Given the description of an element on the screen output the (x, y) to click on. 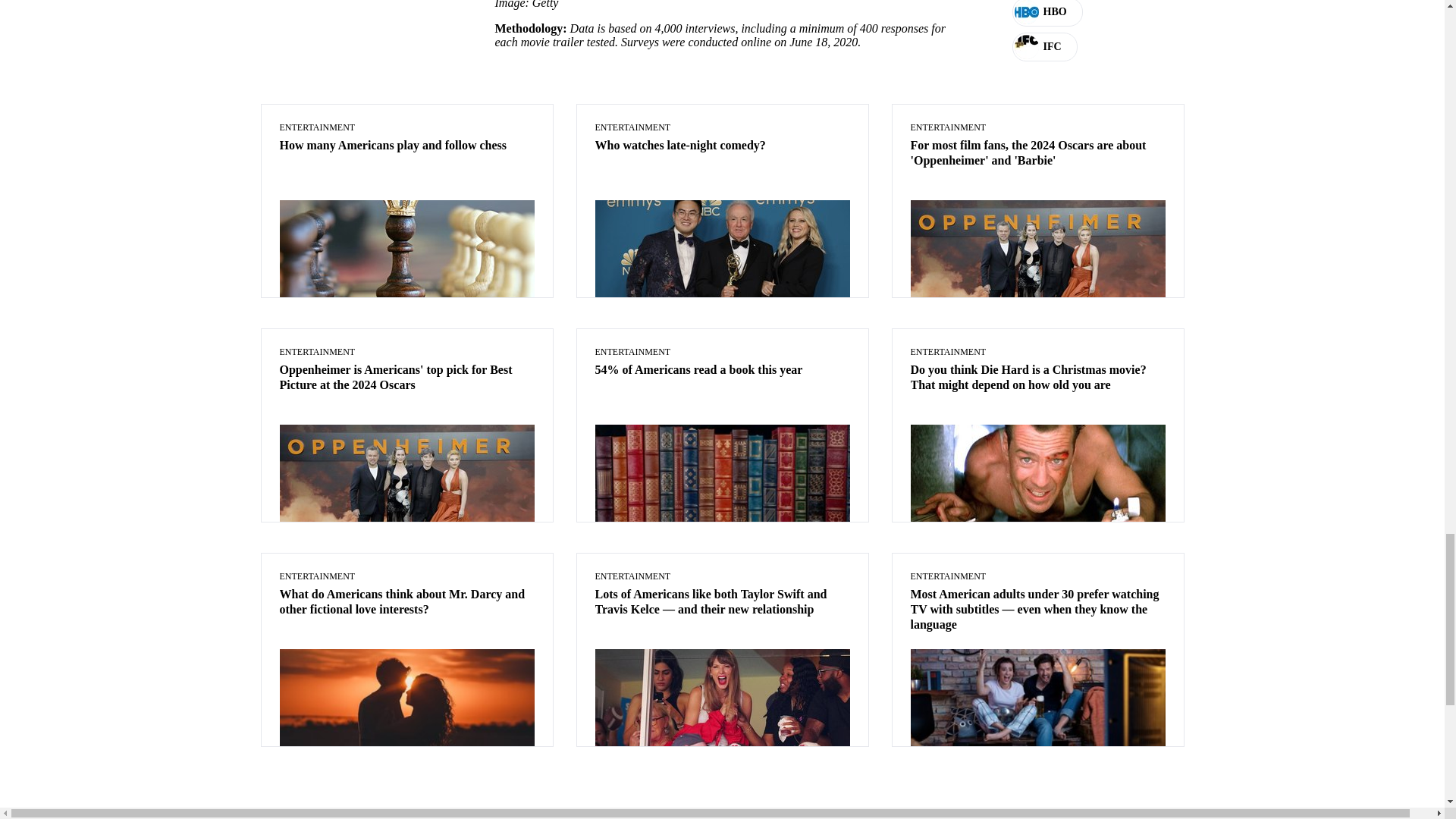
How many Americans play and follow chess (406, 146)
Who watches late-night comedy? (721, 146)
